Given the description of an element on the screen output the (x, y) to click on. 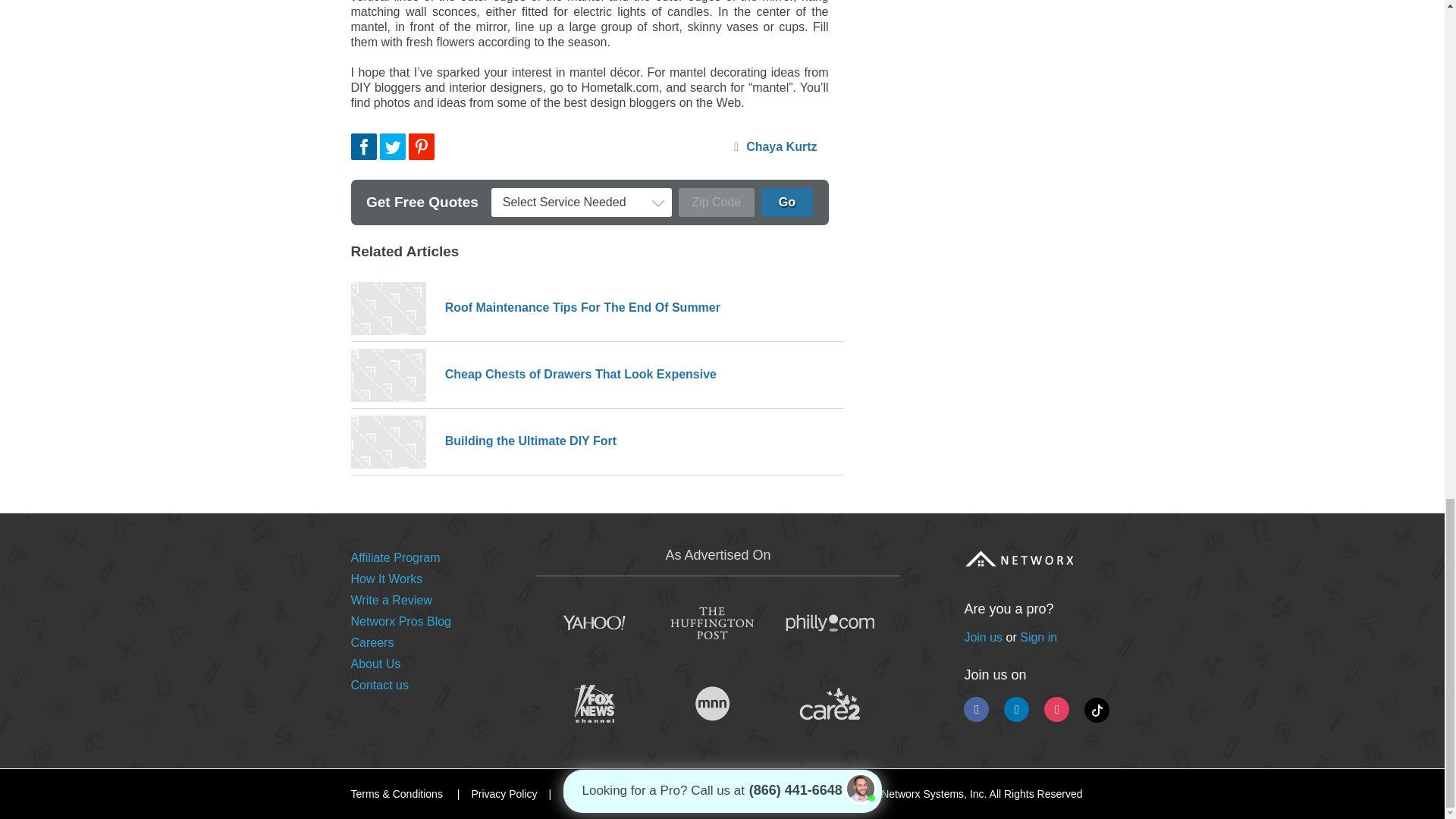
Go (786, 202)
